Given the description of an element on the screen output the (x, y) to click on. 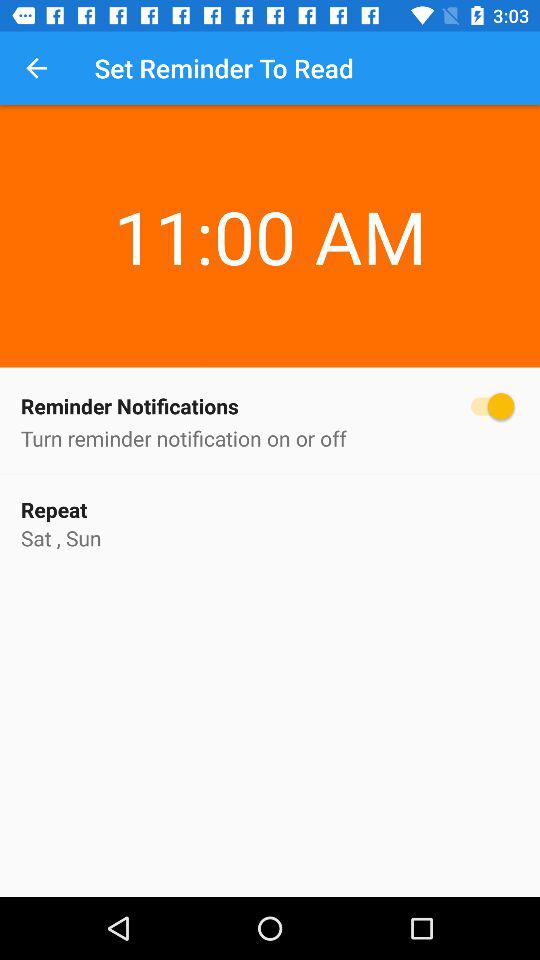
select the item above the reminder notifications (270, 199)
